Given the description of an element on the screen output the (x, y) to click on. 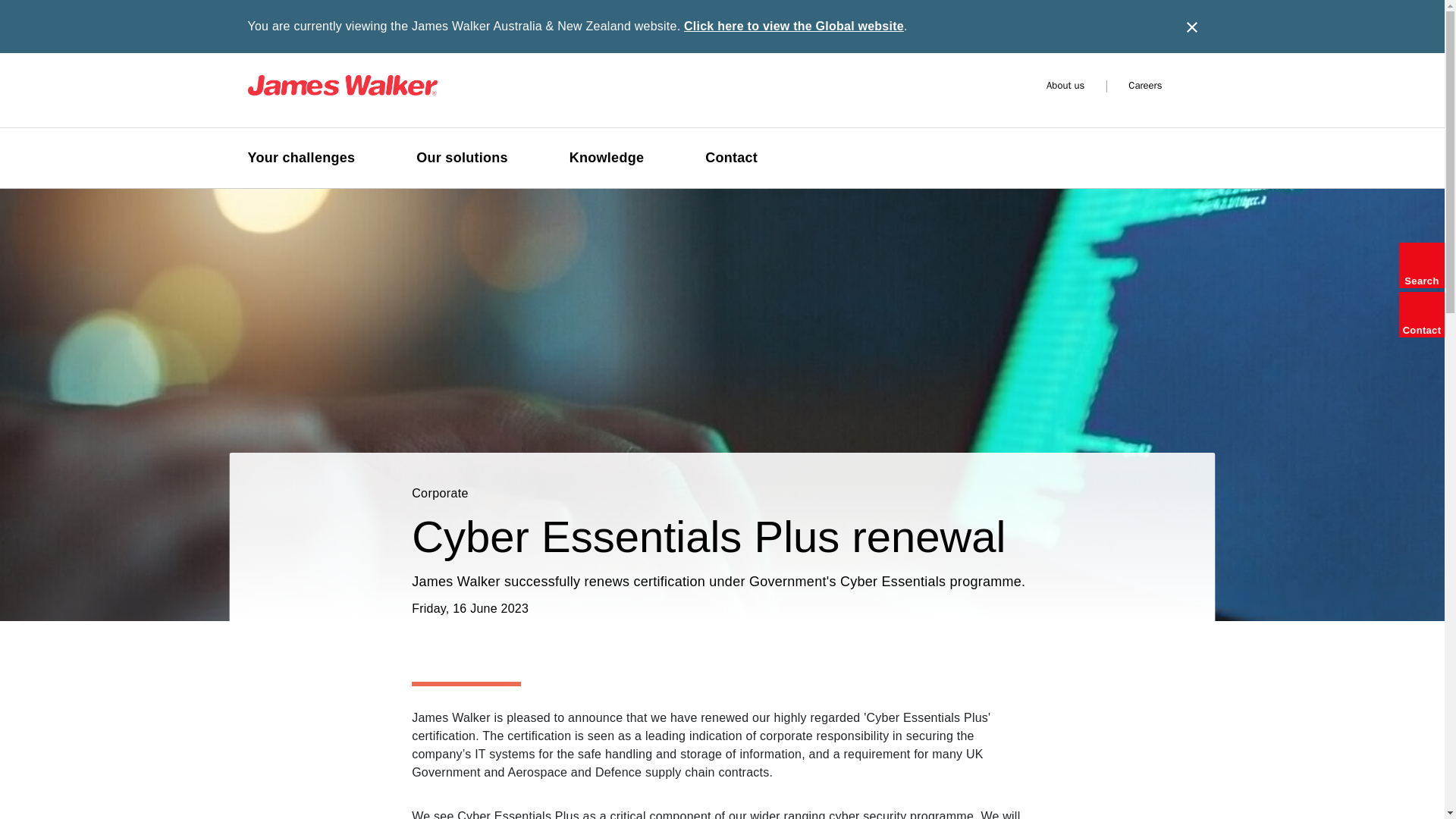
Careers (1145, 85)
Click here to view the Global website (794, 25)
Your challenges (309, 164)
About us (1065, 85)
